Given the description of an element on the screen output the (x, y) to click on. 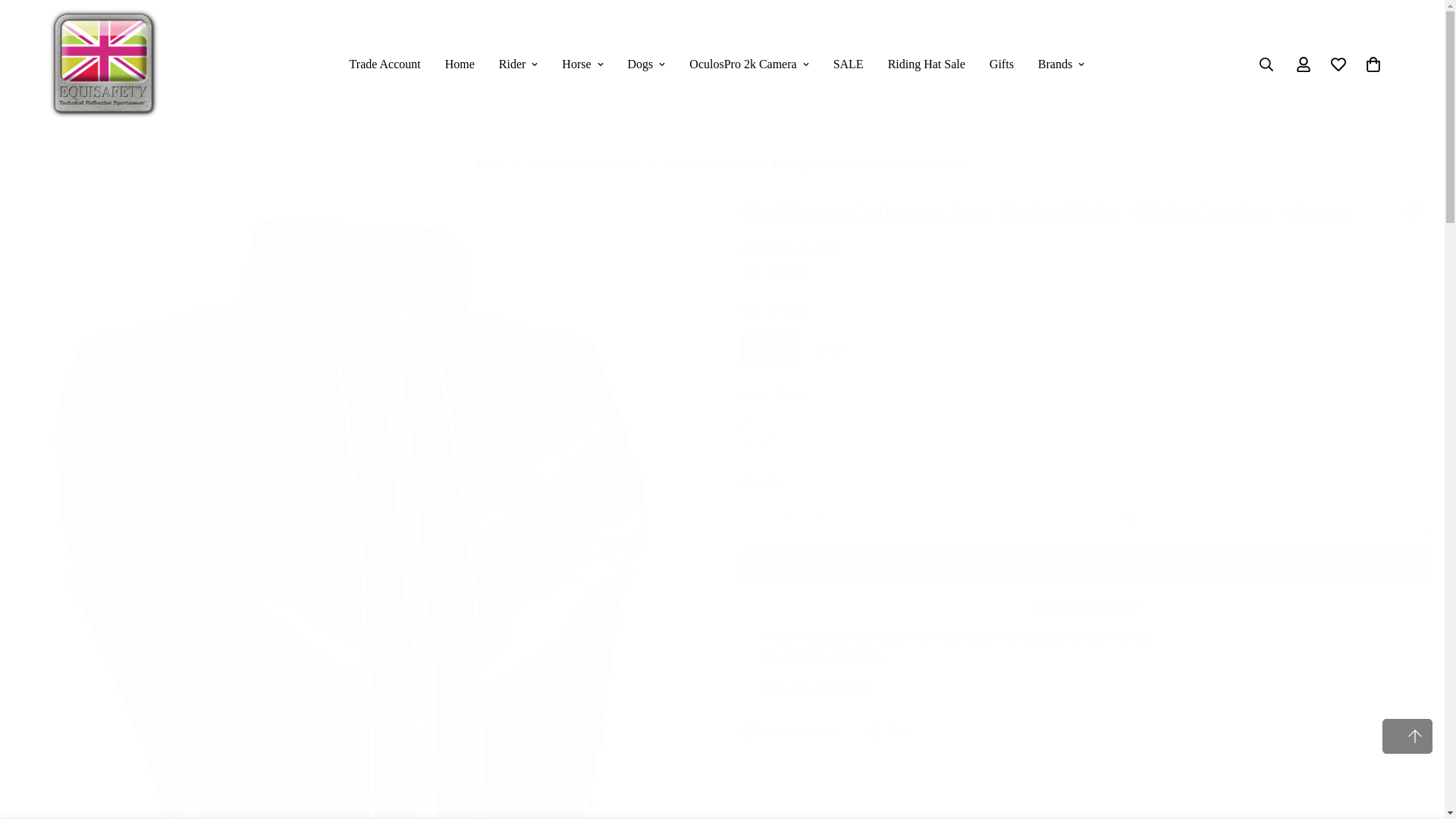
1 (789, 516)
Equisafety  (103, 64)
Back to the home page (489, 164)
